Given the description of an element on the screen output the (x, y) to click on. 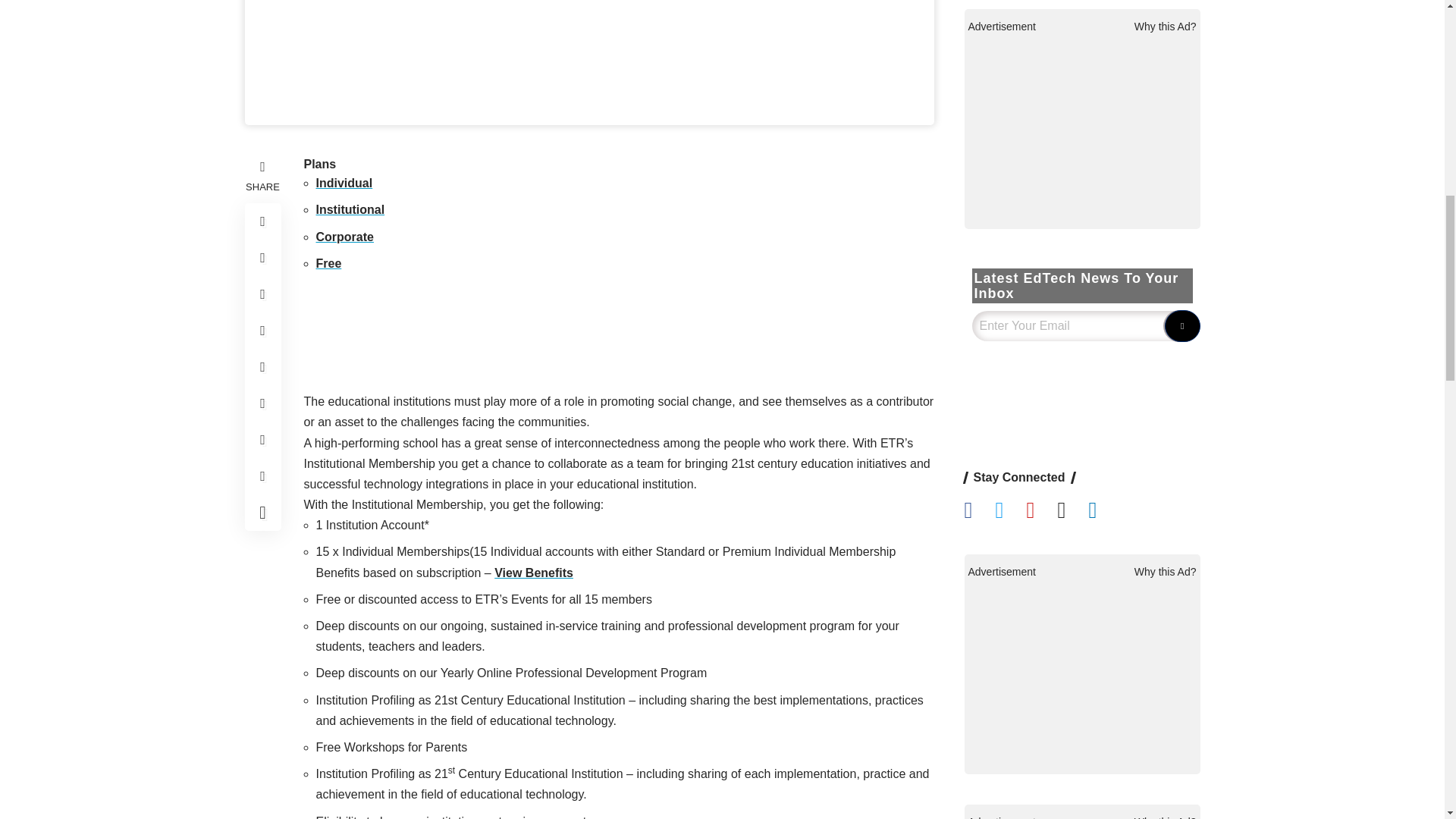
Follow EdTechReview on Facebook (979, 748)
Follow EdTechReview on YouTube (1041, 748)
Follow EdTechReview on Twitter (1010, 748)
